Given the description of an element on the screen output the (x, y) to click on. 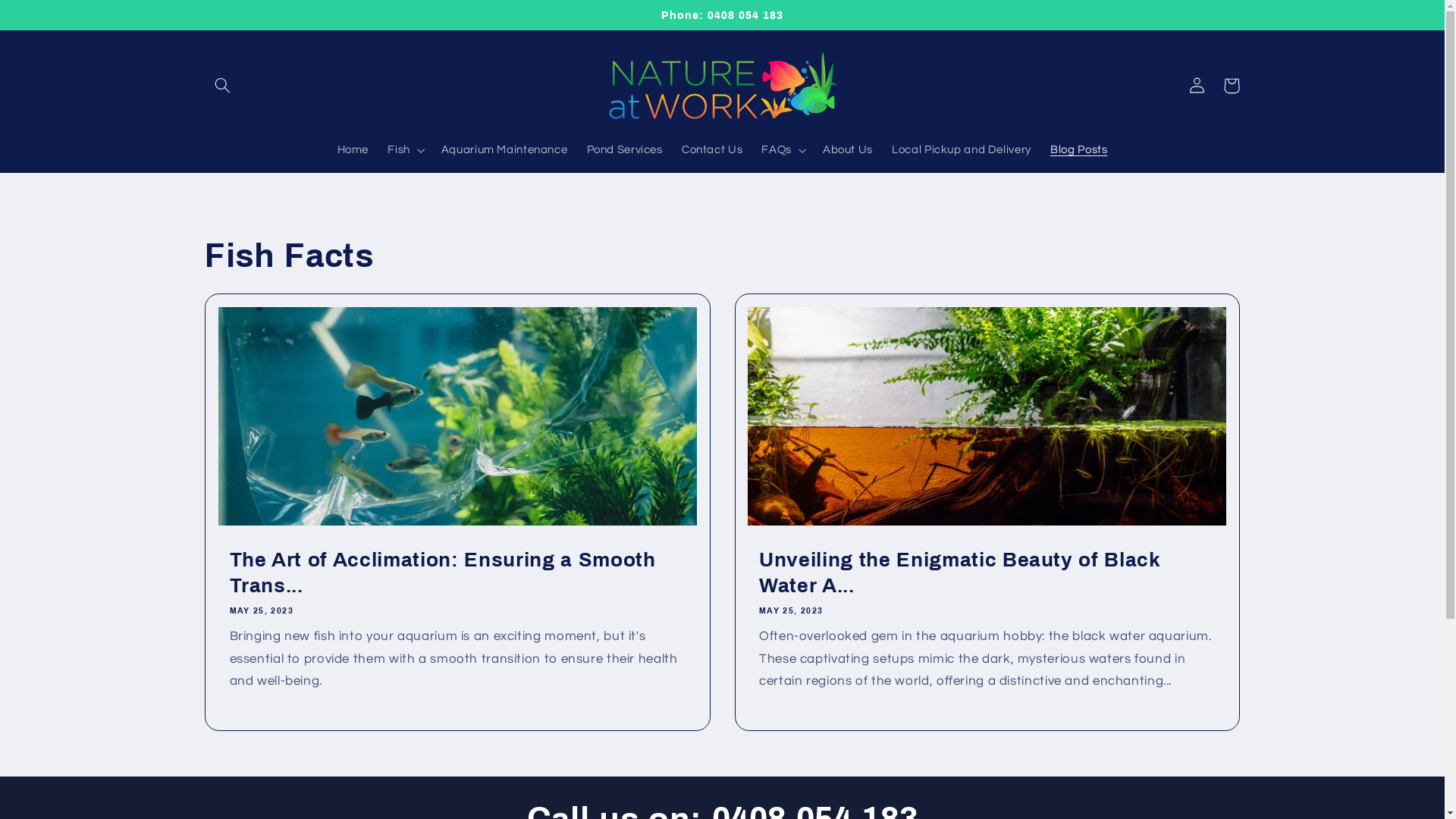
About Us Element type: text (846, 149)
Home Element type: text (352, 149)
Contact Us Element type: text (711, 149)
Cart Element type: text (1231, 85)
The Art of Acclimation: Ensuring a Smooth Trans... Element type: text (457, 573)
Pond Services Element type: text (624, 149)
Log in Element type: text (1196, 85)
Blog Posts Element type: text (1078, 149)
Aquarium Maintenance Element type: text (504, 149)
Unveiling the Enigmatic Beauty of Black Water A... Element type: text (987, 573)
Local Pickup and Delivery Element type: text (961, 149)
